Given the description of an element on the screen output the (x, y) to click on. 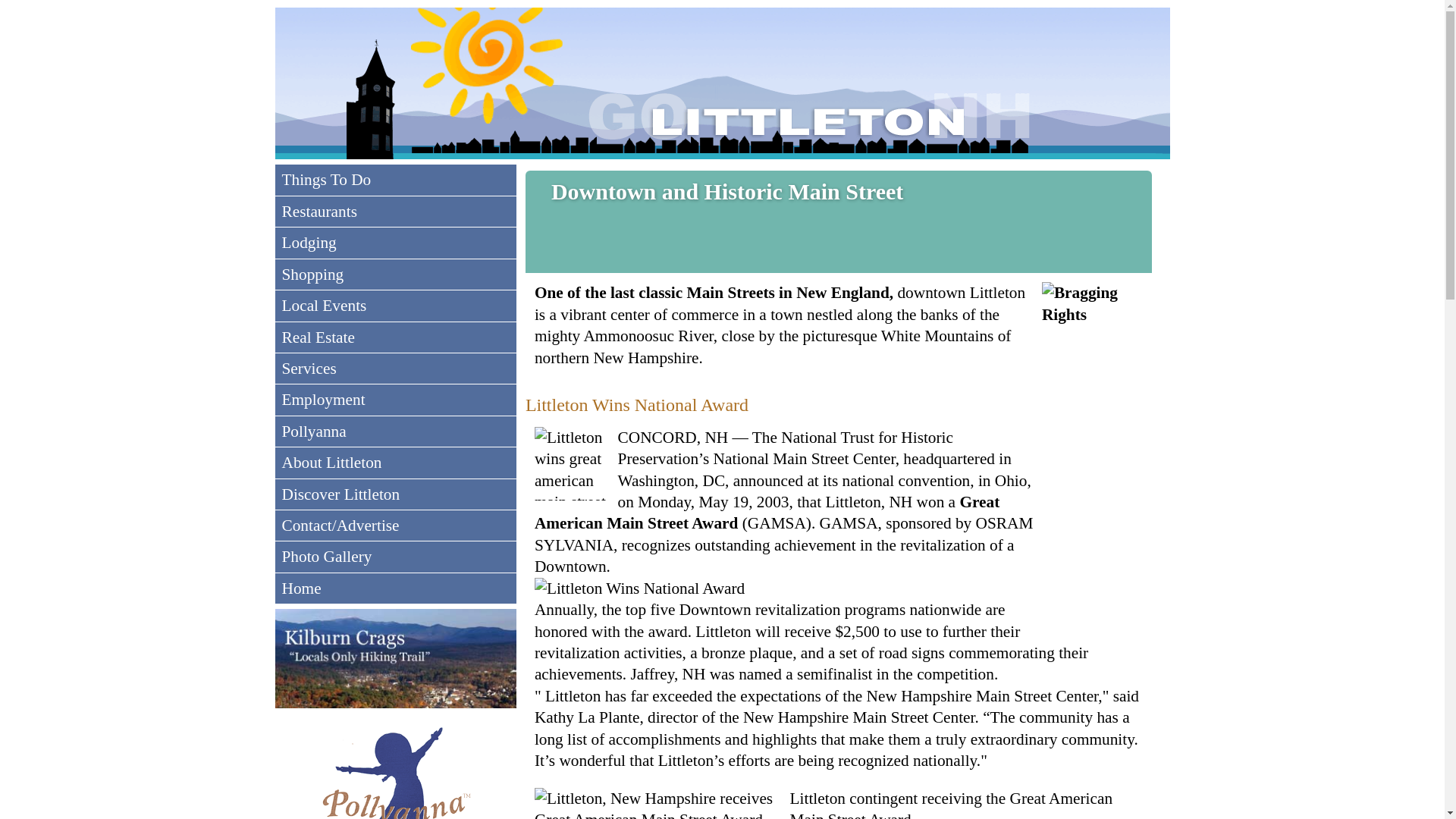
Littleton Event Calendar (395, 305)
About Littleton (395, 462)
Discover Littleton (395, 494)
Things To Do (395, 179)
Pollyanna of Littleton, NH (395, 431)
Services (395, 368)
Employment in Littleton NH (395, 399)
Dining in the Littleton Area (395, 211)
Restaurants (395, 211)
Pollyanna (395, 431)
Shopping (395, 274)
Employment (395, 399)
Littleton Area Real Estate (395, 337)
Littleton NH Lodging (395, 242)
Services in Littleton, NH (395, 368)
